Given the description of an element on the screen output the (x, y) to click on. 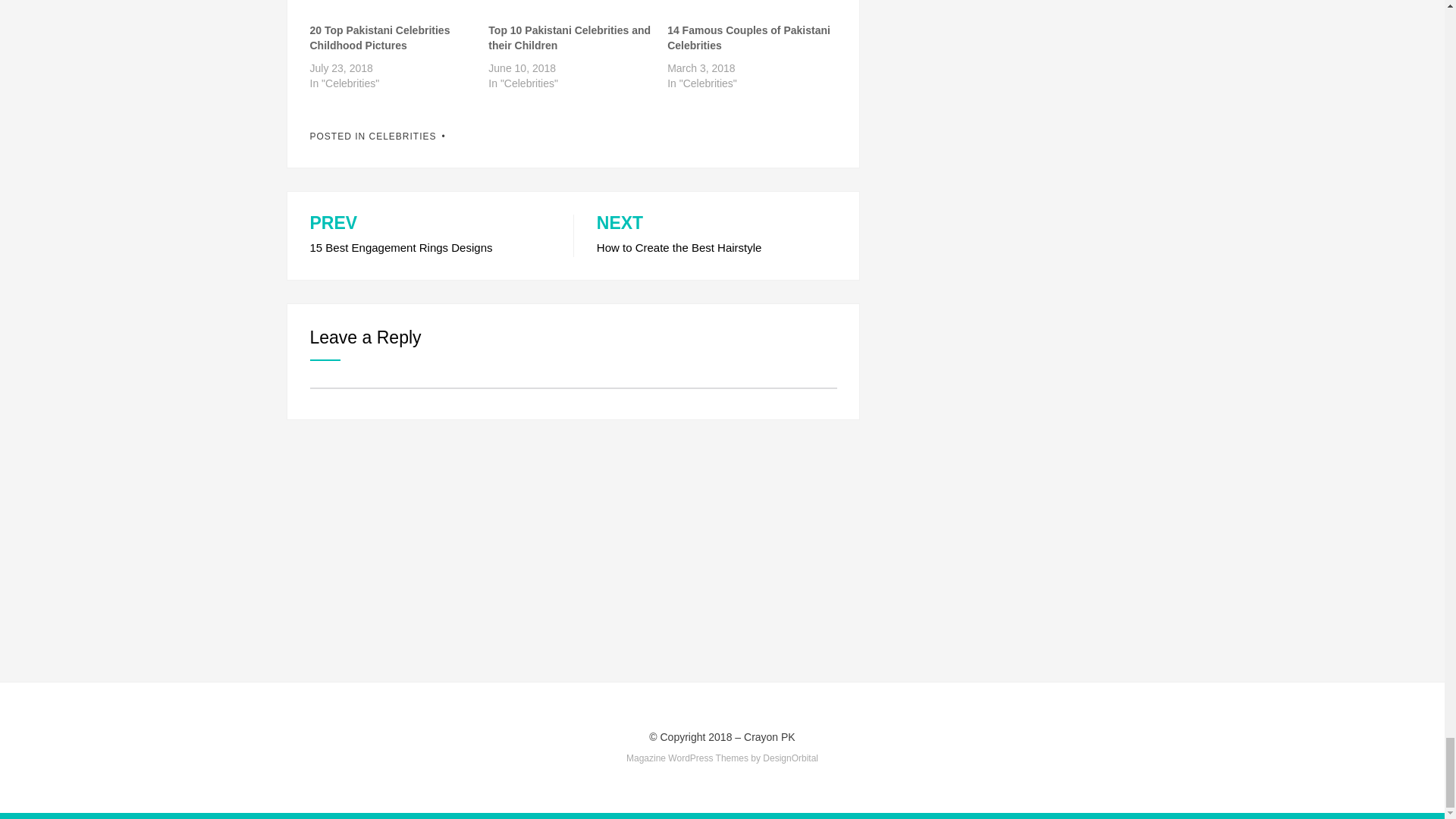
Top 10 Pakistani Celebrities and their Children (569, 7)
20 Top Pakistani Celebrities Childhood Pictures (378, 37)
Top 10 Pakistani Celebrities and their Children (568, 37)
20 Top Pakistani Celebrities Childhood Pictures (390, 7)
